Given the description of an element on the screen output the (x, y) to click on. 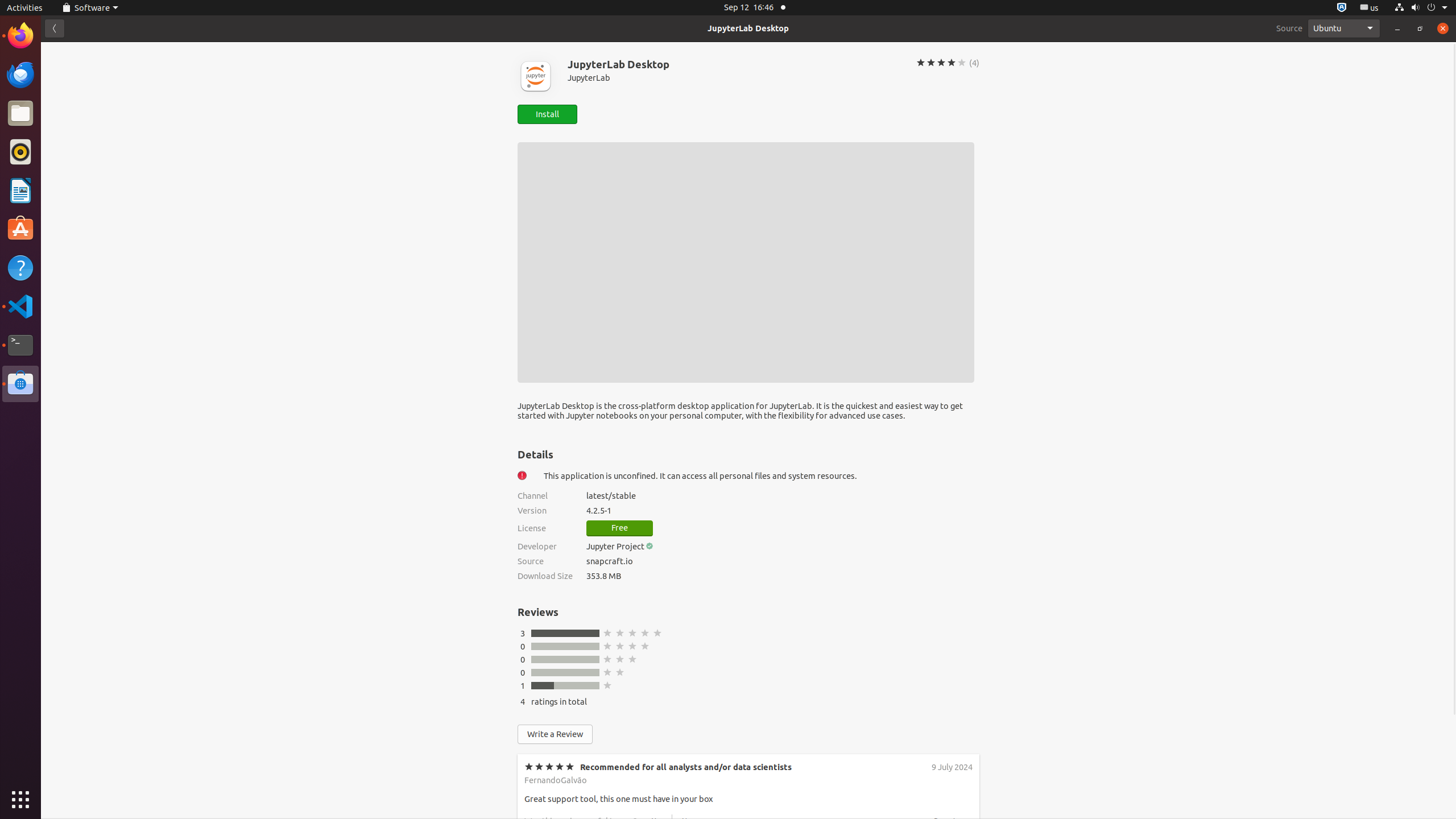
IsaHelpMain.desktop Element type: label (75, 170)
(4) Element type: label (974, 62)
0 Element type: label (522, 672)
